Given the description of an element on the screen output the (x, y) to click on. 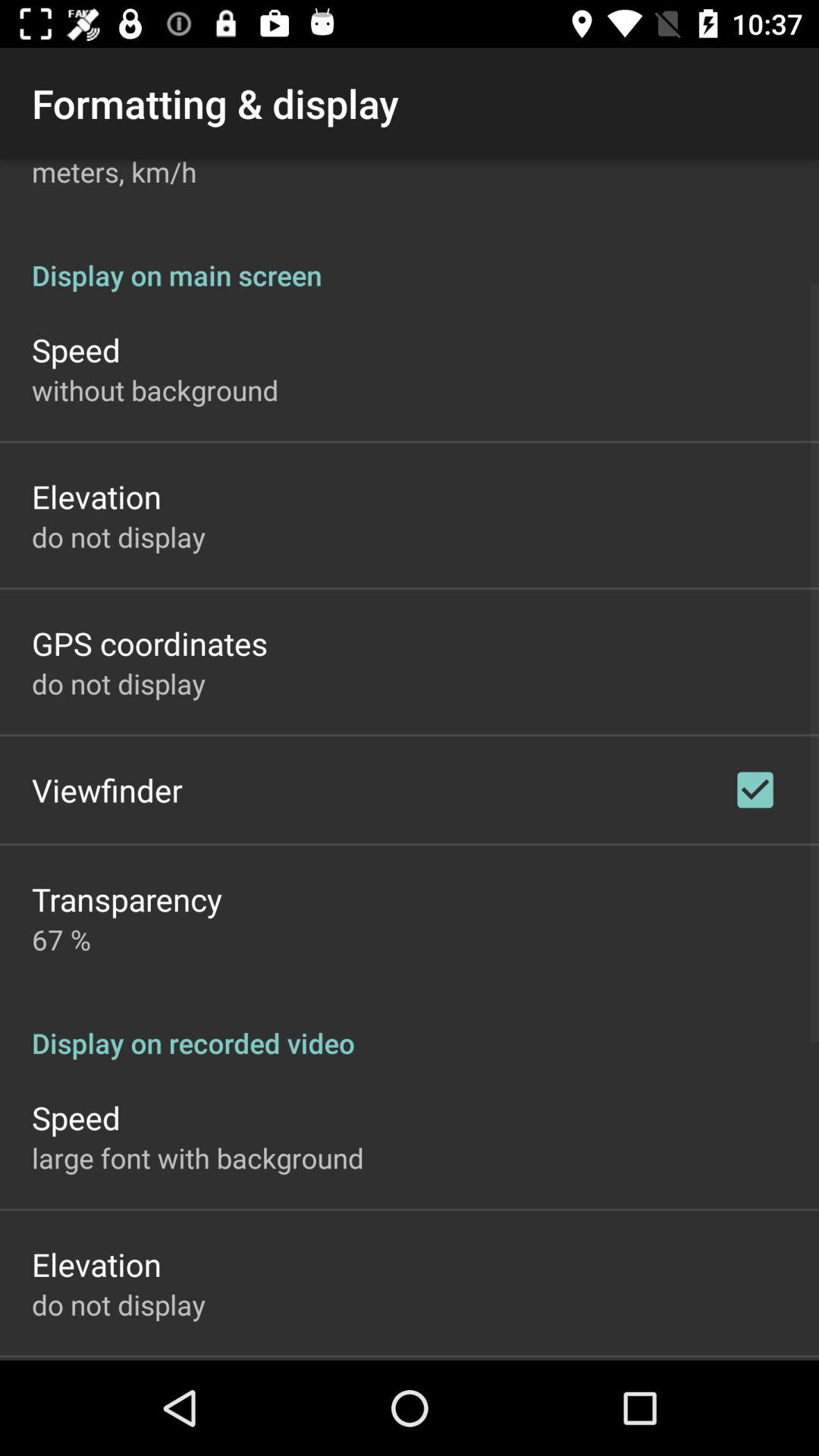
press app below the display on main (755, 789)
